Given the description of an element on the screen output the (x, y) to click on. 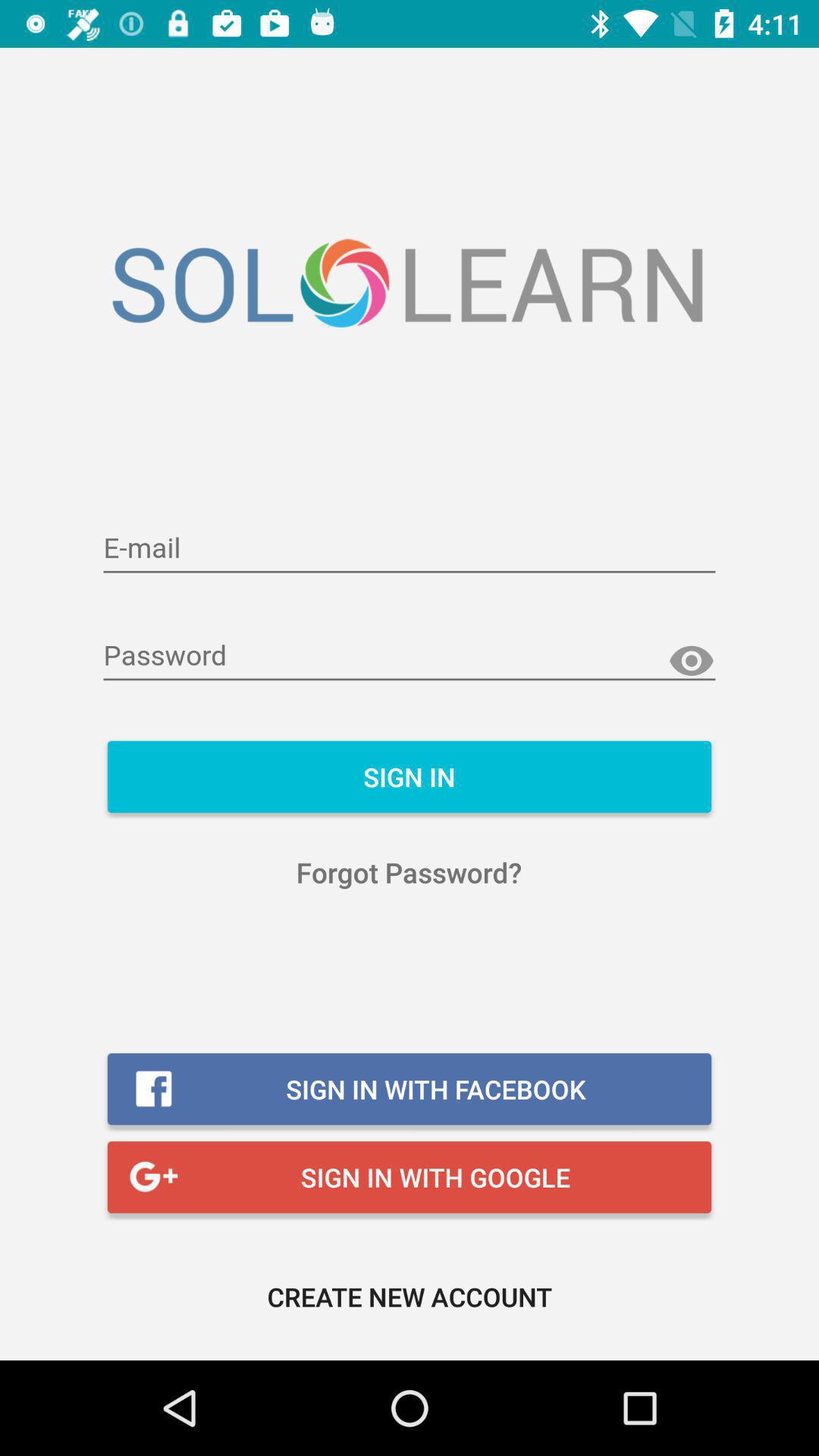
launch item below the sign in with item (409, 1296)
